Given the description of an element on the screen output the (x, y) to click on. 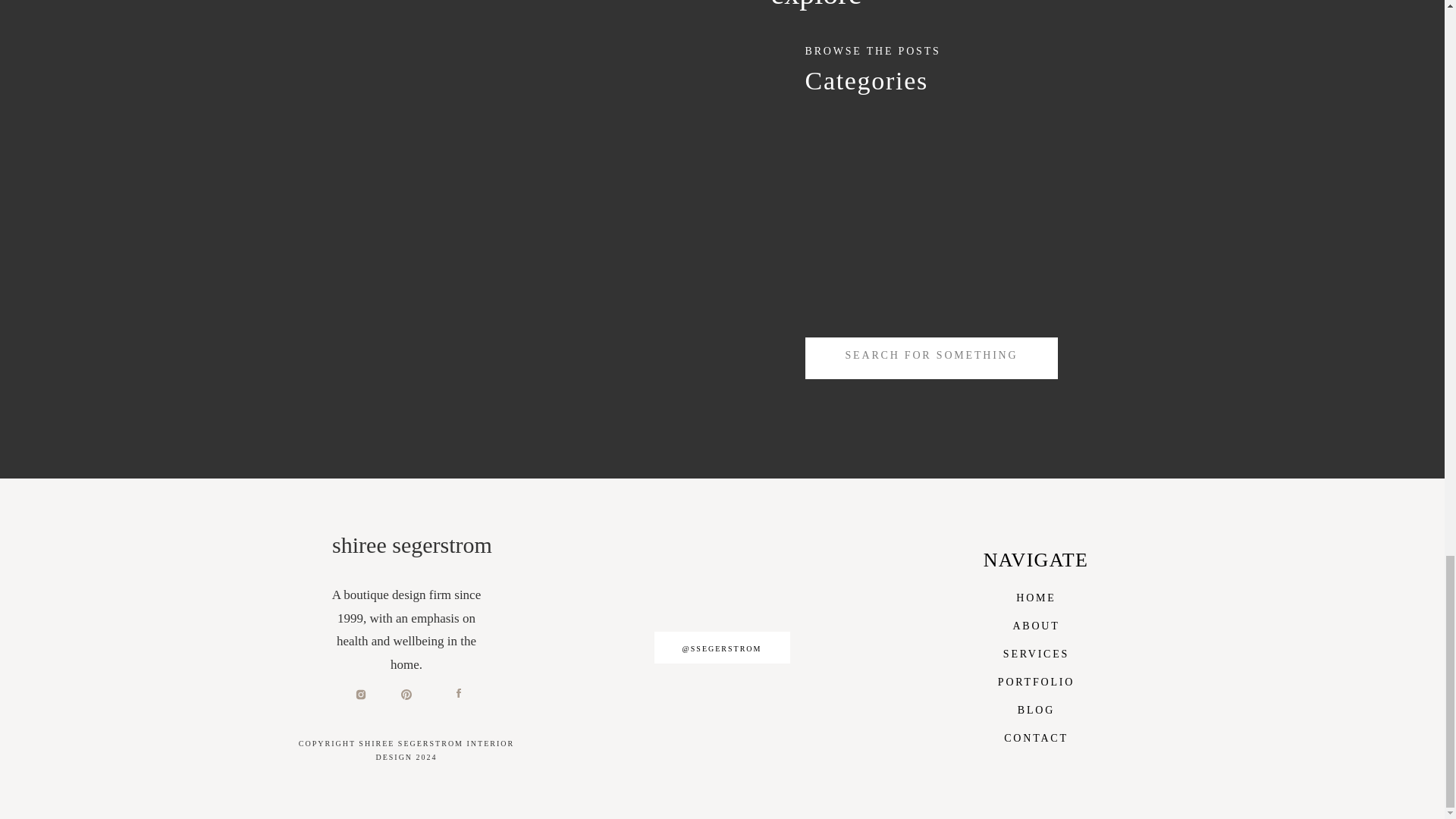
CONTACT (1035, 736)
ABOUT (1035, 624)
PORTFOLIO (1035, 680)
SERVICES (1035, 652)
BLOG (1035, 708)
HOME (1035, 596)
